Given the description of an element on the screen output the (x, y) to click on. 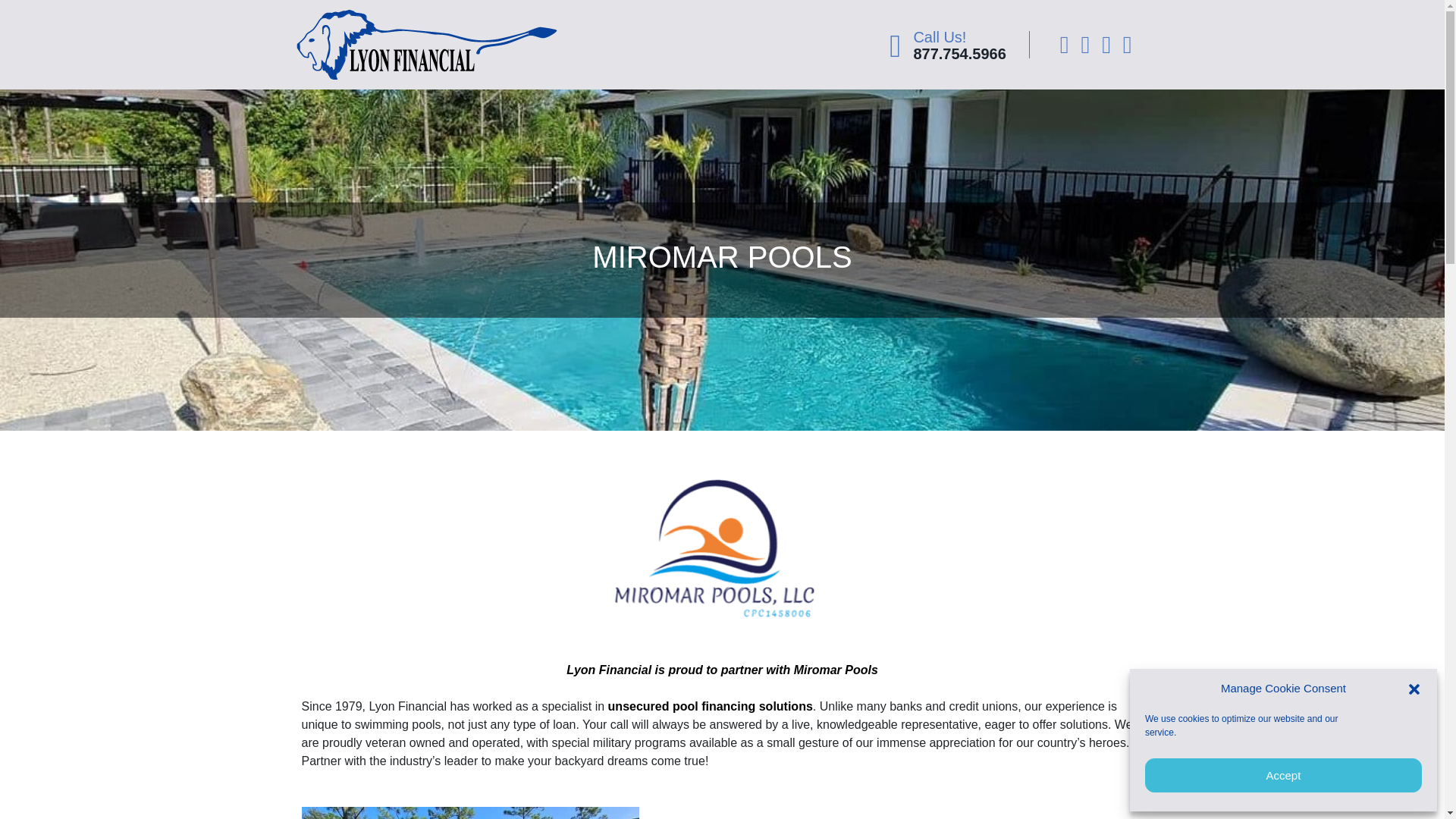
Accept (1283, 775)
877.754.5966 (959, 53)
